Given the description of an element on the screen output the (x, y) to click on. 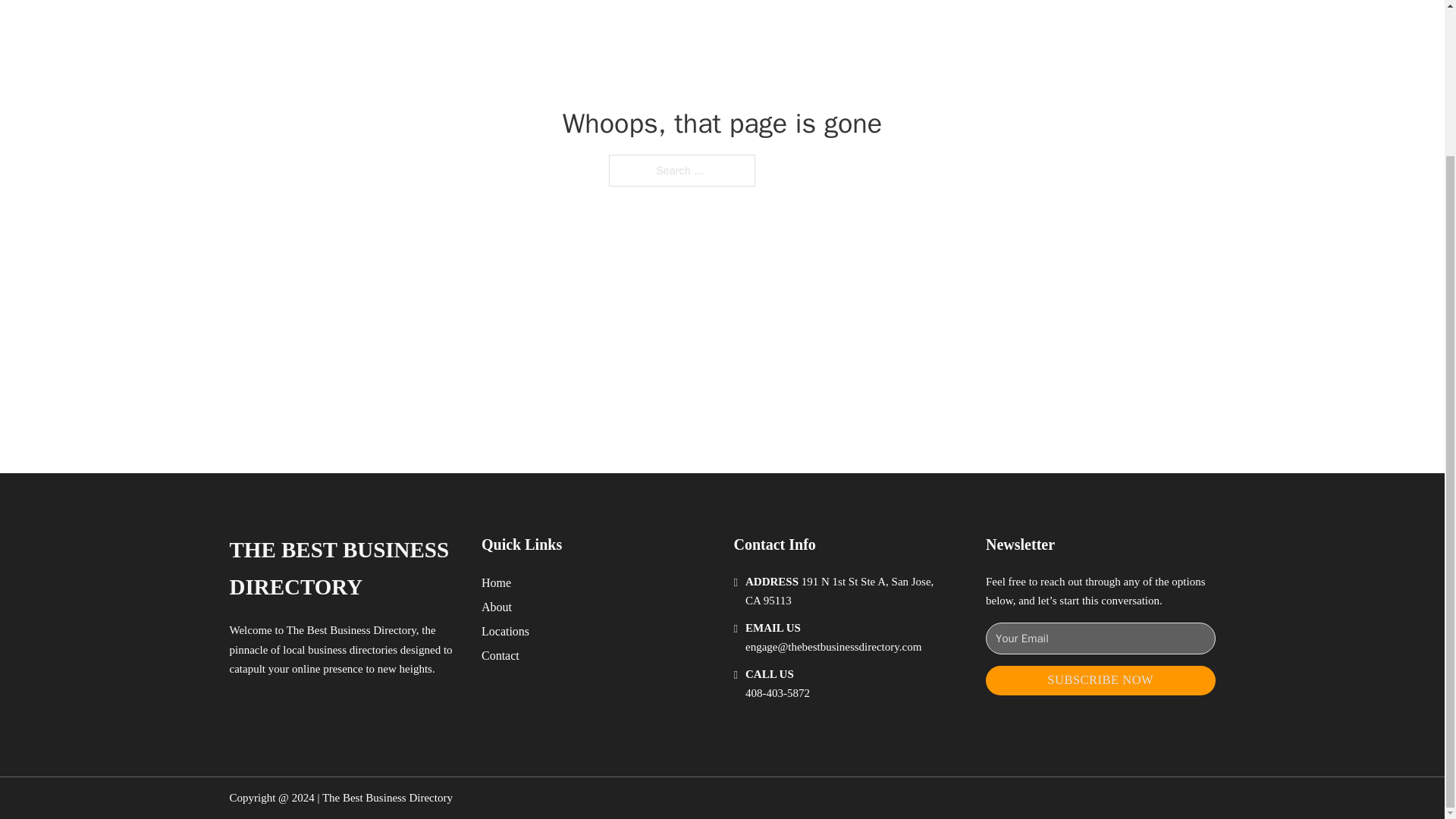
THE BEST BUSINESS DIRECTORY (343, 568)
408-403-5872 (777, 693)
About (496, 607)
Contact (500, 655)
Home (496, 582)
Locations (505, 630)
SUBSCRIBE NOW (1100, 680)
